Given the description of an element on the screen output the (x, y) to click on. 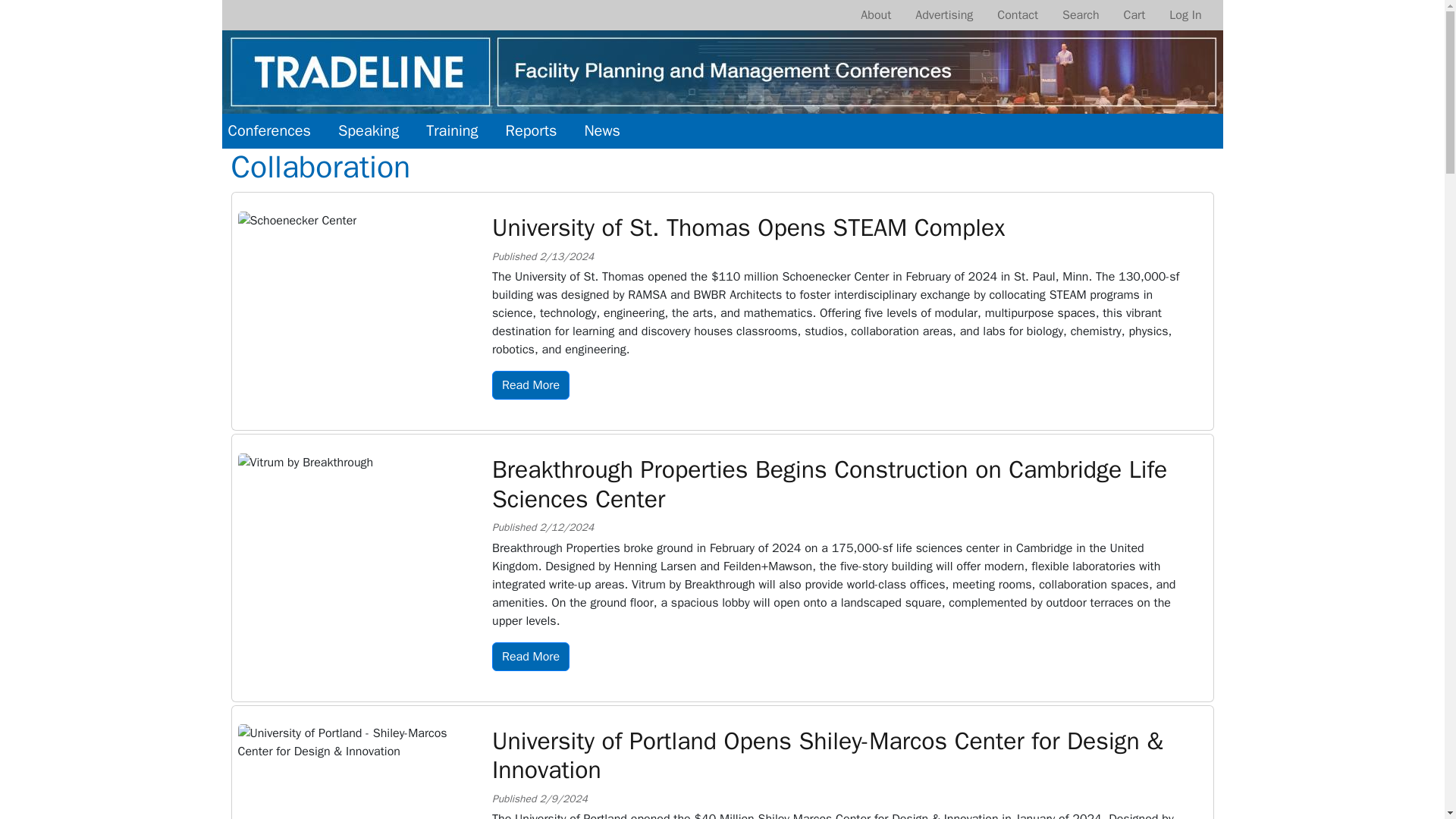
Cart (1134, 15)
Conferences (268, 130)
Speaking (367, 130)
Read More (530, 385)
Advertising (943, 15)
News (602, 130)
Upcoming accredited training courses (451, 130)
Training (451, 130)
About (875, 15)
Home (722, 38)
Reports (531, 130)
Contact (1017, 15)
Read More (530, 656)
University of St. Thomas Opens STEAM Complex (748, 227)
